Given the description of an element on the screen output the (x, y) to click on. 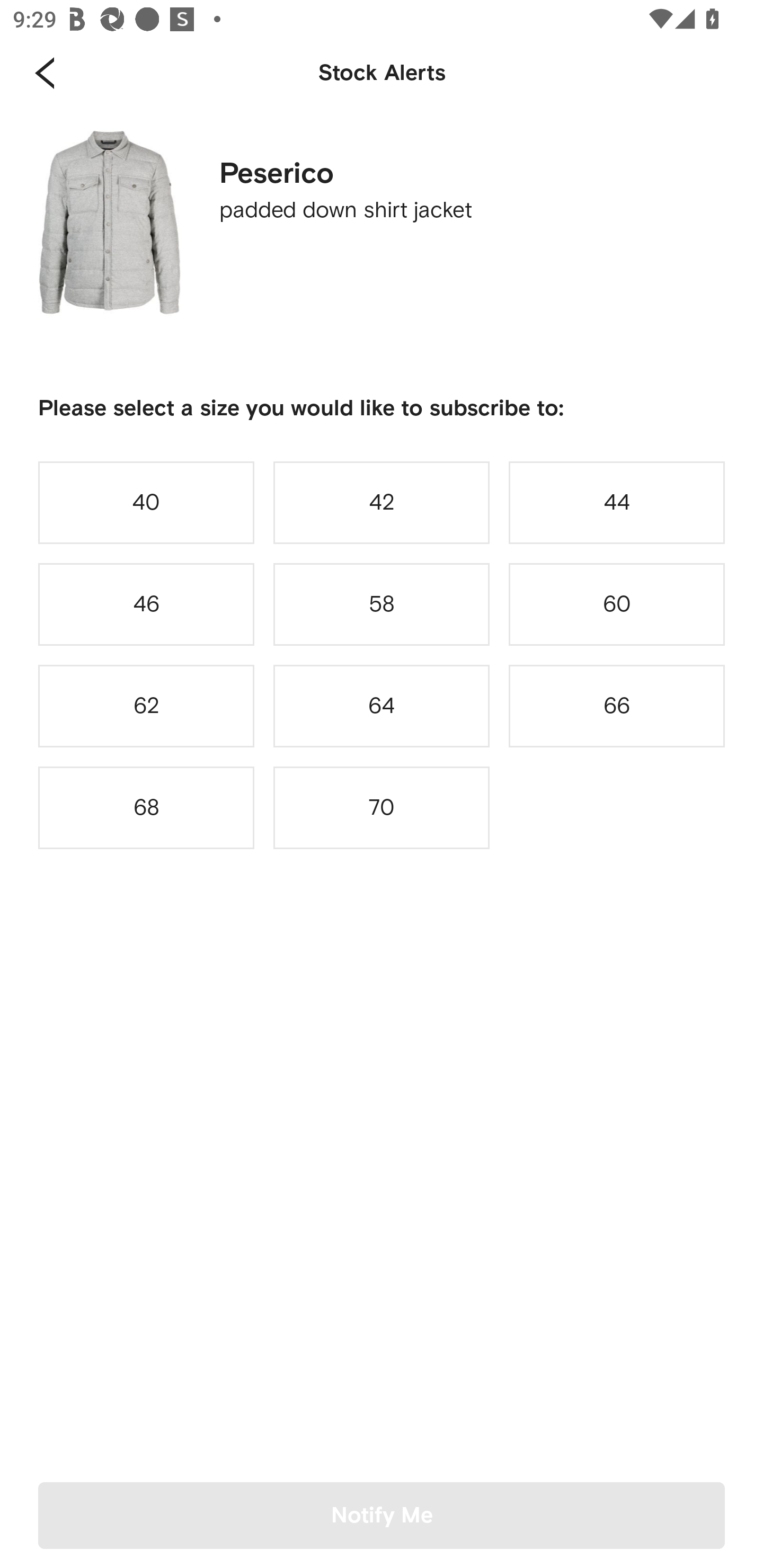
40 (146, 502)
42 (381, 502)
44 (616, 502)
46 (146, 604)
58 (381, 604)
60 (616, 604)
62 (146, 705)
64 (381, 705)
66 (616, 705)
68 (146, 807)
70 (381, 807)
Notify Me (381, 1515)
